Given the description of an element on the screen output the (x, y) to click on. 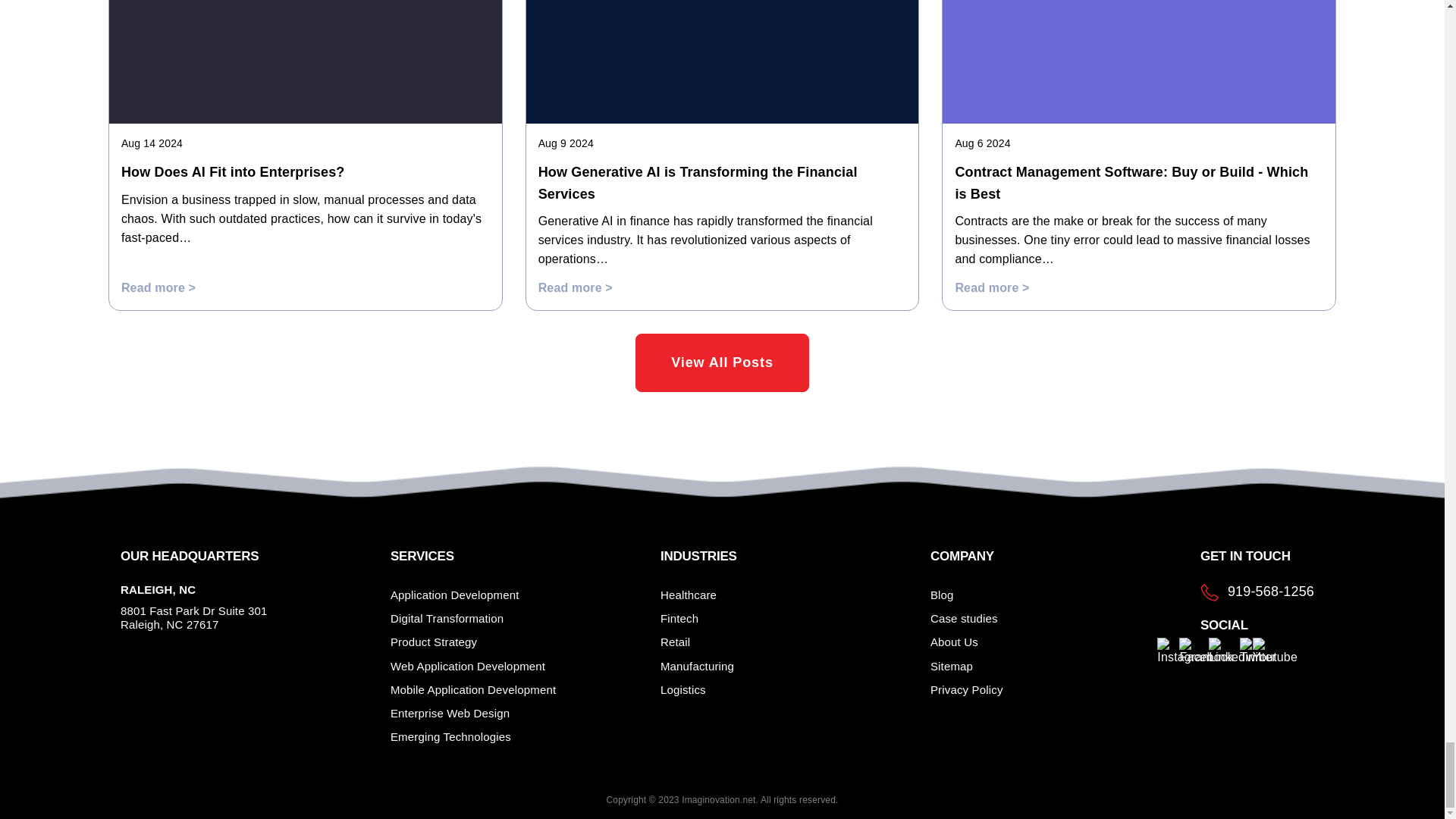
Youtube (1274, 651)
Twitter (1258, 651)
Instagram (1184, 651)
Facebook (1206, 651)
Linkedin (1231, 651)
